Given the description of an element on the screen output the (x, y) to click on. 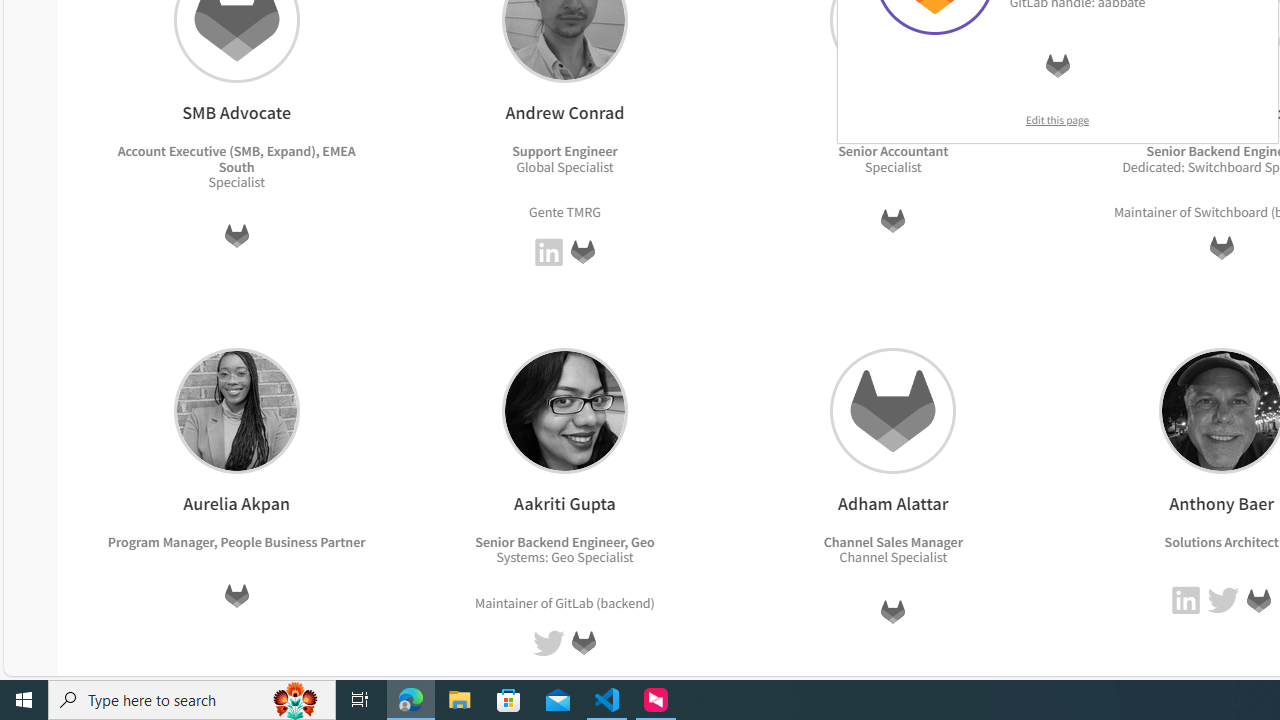
Senior Accountant (893, 151)
Edit this page (1057, 119)
GitLab (1258, 600)
Gente TMRG (564, 210)
Aakriti Gupta (564, 410)
Support Engineer (565, 151)
